Given the description of an element on the screen output the (x, y) to click on. 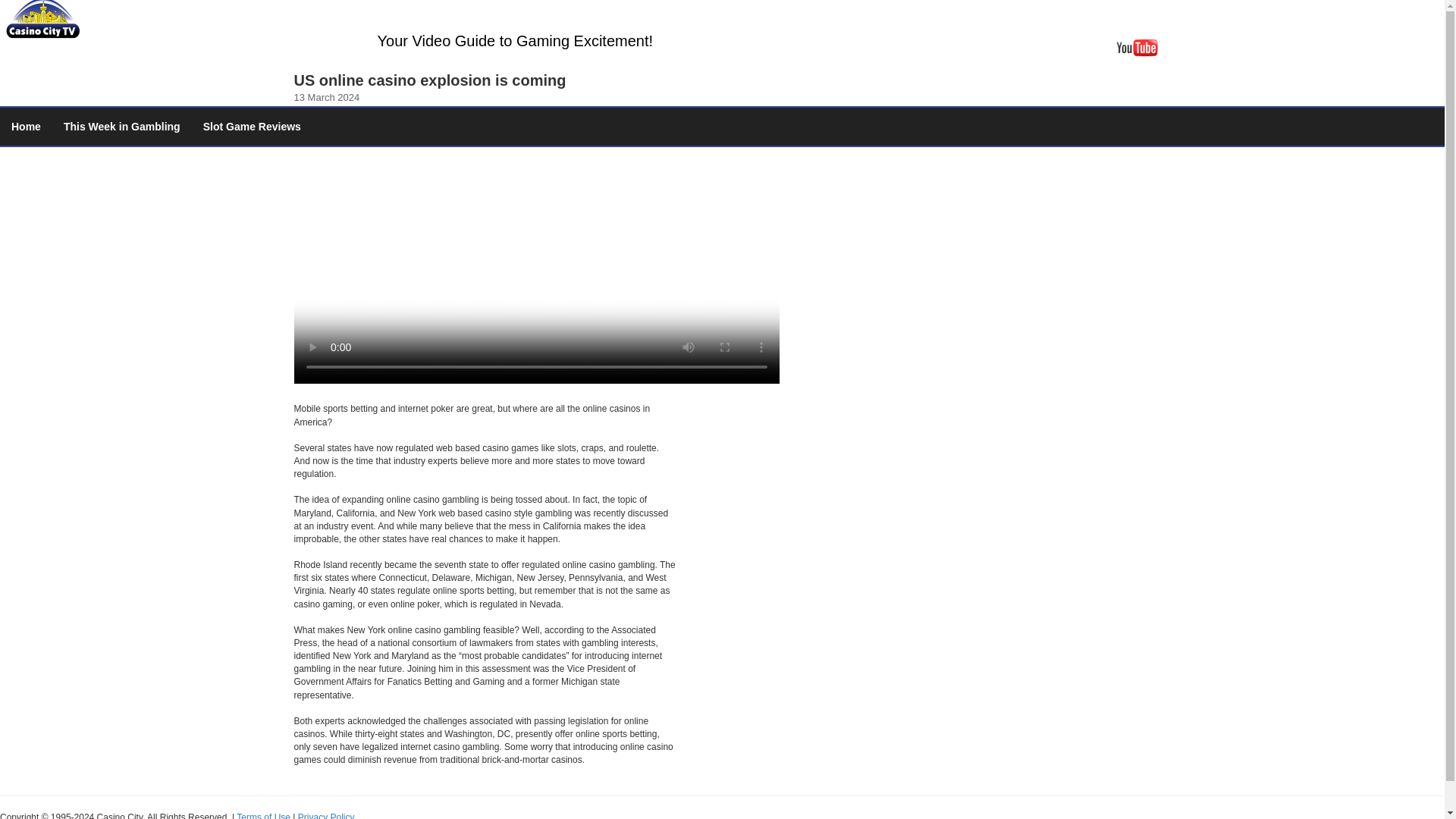
Home (26, 126)
This Week in Gambling (122, 126)
Terms of Use (262, 815)
Slot Game Reviews (252, 126)
Privacy Policy (326, 815)
